Given the description of an element on the screen output the (x, y) to click on. 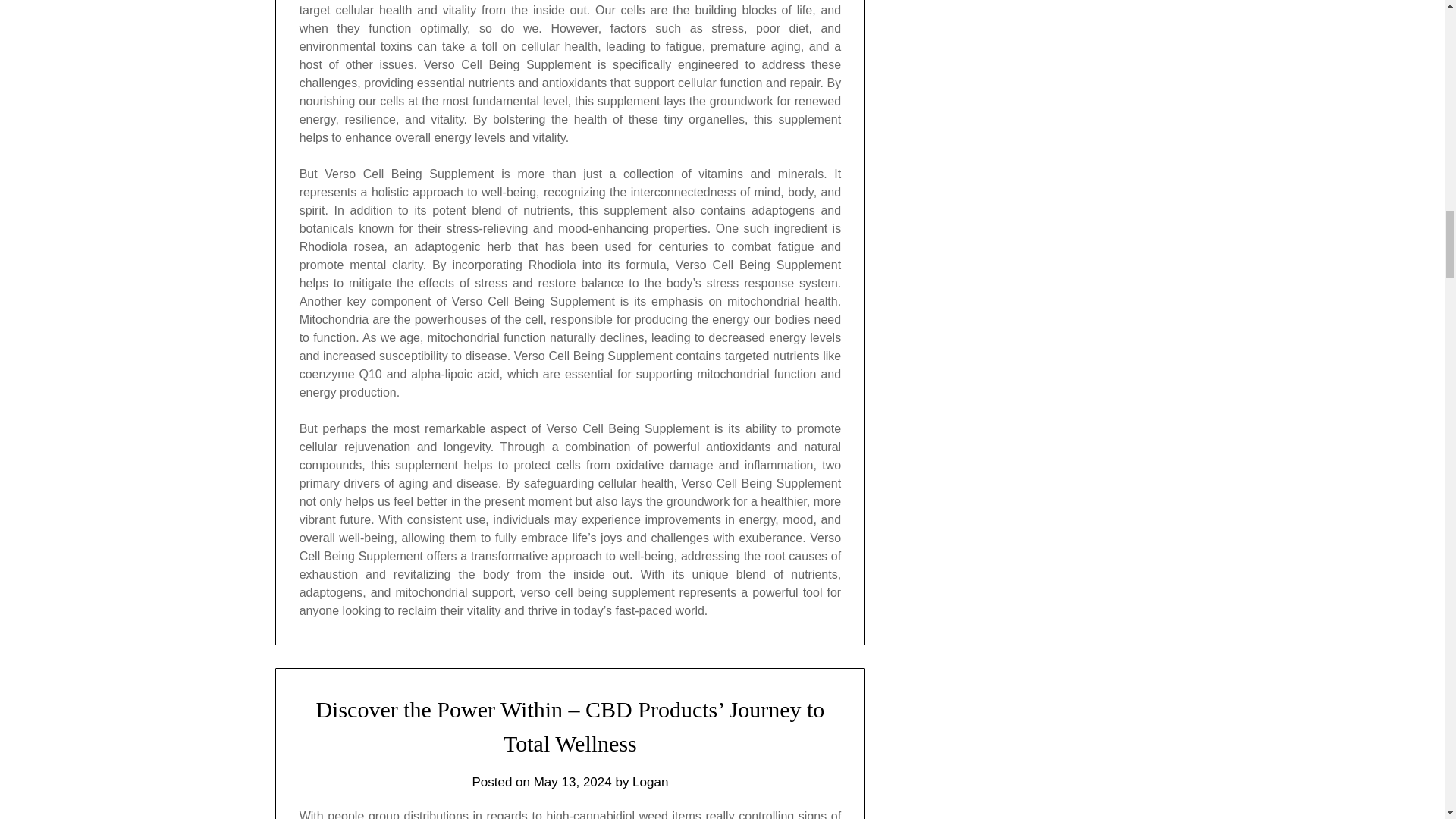
May 13, 2024 (572, 781)
Logan (649, 781)
